Given the description of an element on the screen output the (x, y) to click on. 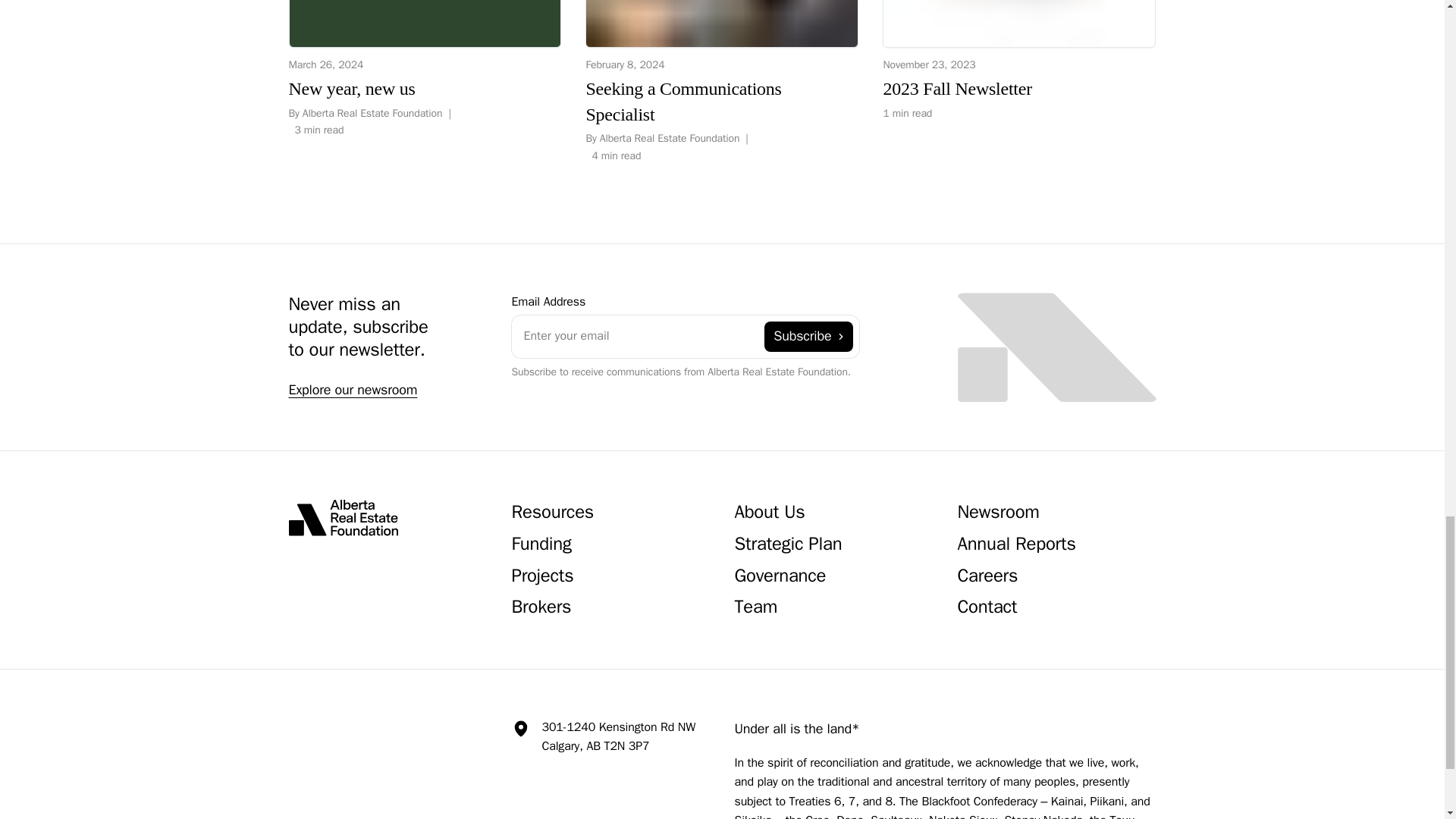
Brokers (540, 608)
About Us (769, 513)
Governance (779, 577)
Subscribe (807, 336)
Annual Reports (1015, 545)
Contact (986, 608)
Strategic Plan (787, 545)
Projects (542, 577)
Resources (552, 513)
Careers (986, 577)
Funding (540, 545)
Newsroom (997, 513)
Team (755, 608)
Explore our newsroom (1019, 61)
